Given the description of an element on the screen output the (x, y) to click on. 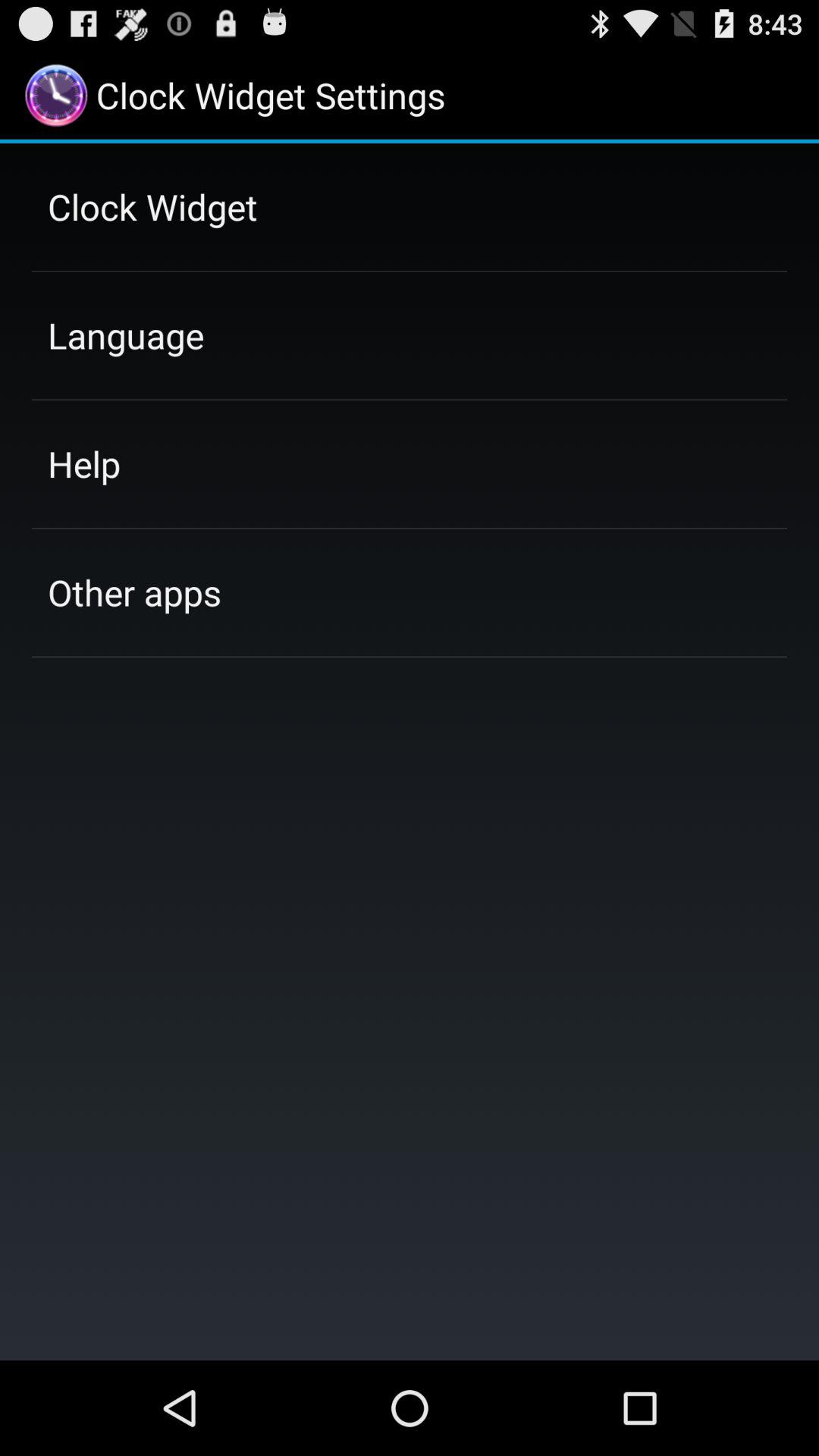
turn off item below help item (134, 592)
